Given the description of an element on the screen output the (x, y) to click on. 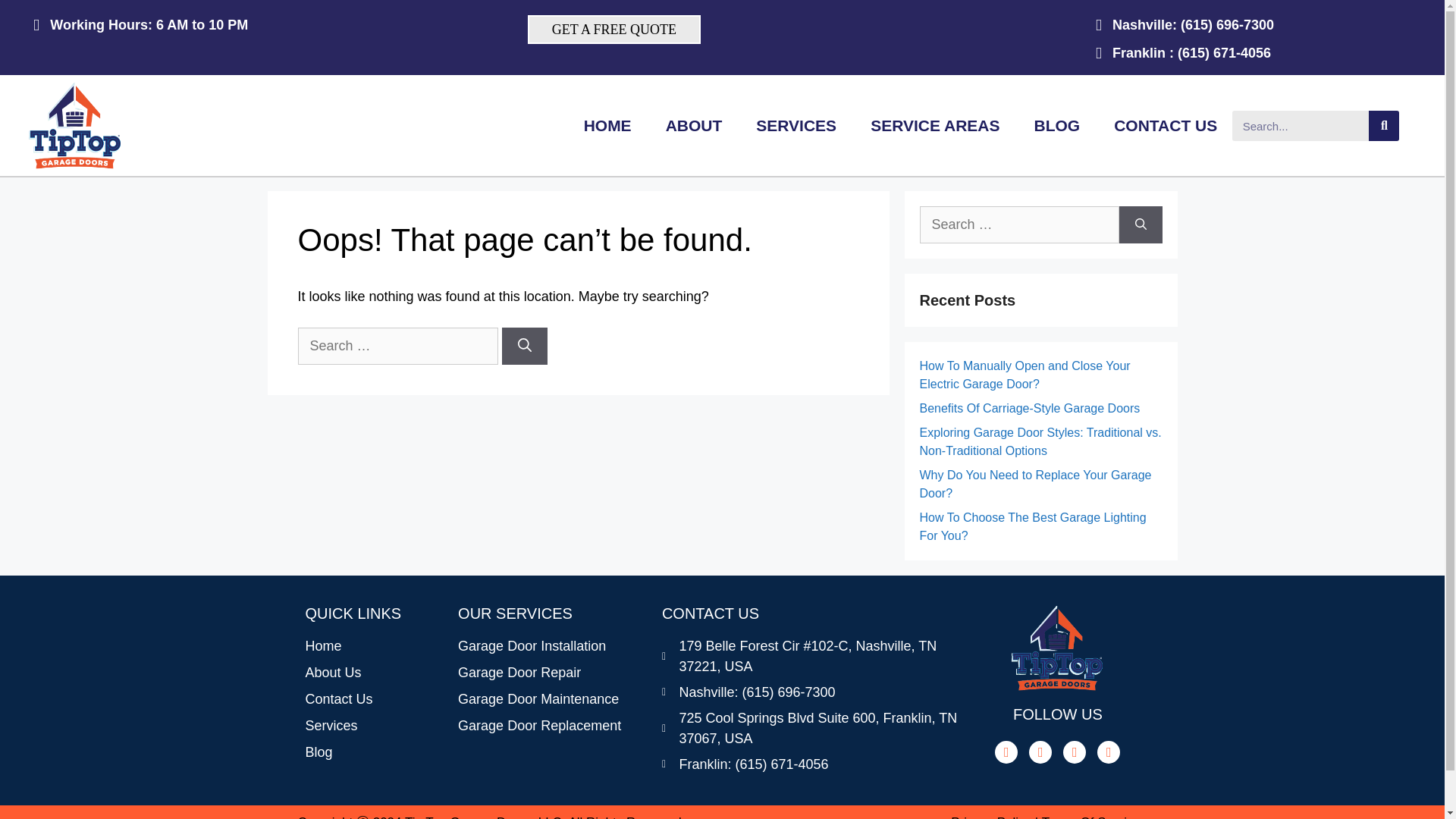
How To Manually Open and Close Your Electric Garage Door? (1023, 374)
SERVICES (796, 125)
ABOUT (694, 125)
SERVICE AREAS (935, 125)
BLOG (1057, 125)
GET A FREE QUOTE (613, 29)
CONTACT US (1165, 125)
HOME (607, 125)
Search for: (1018, 224)
